Given the description of an element on the screen output the (x, y) to click on. 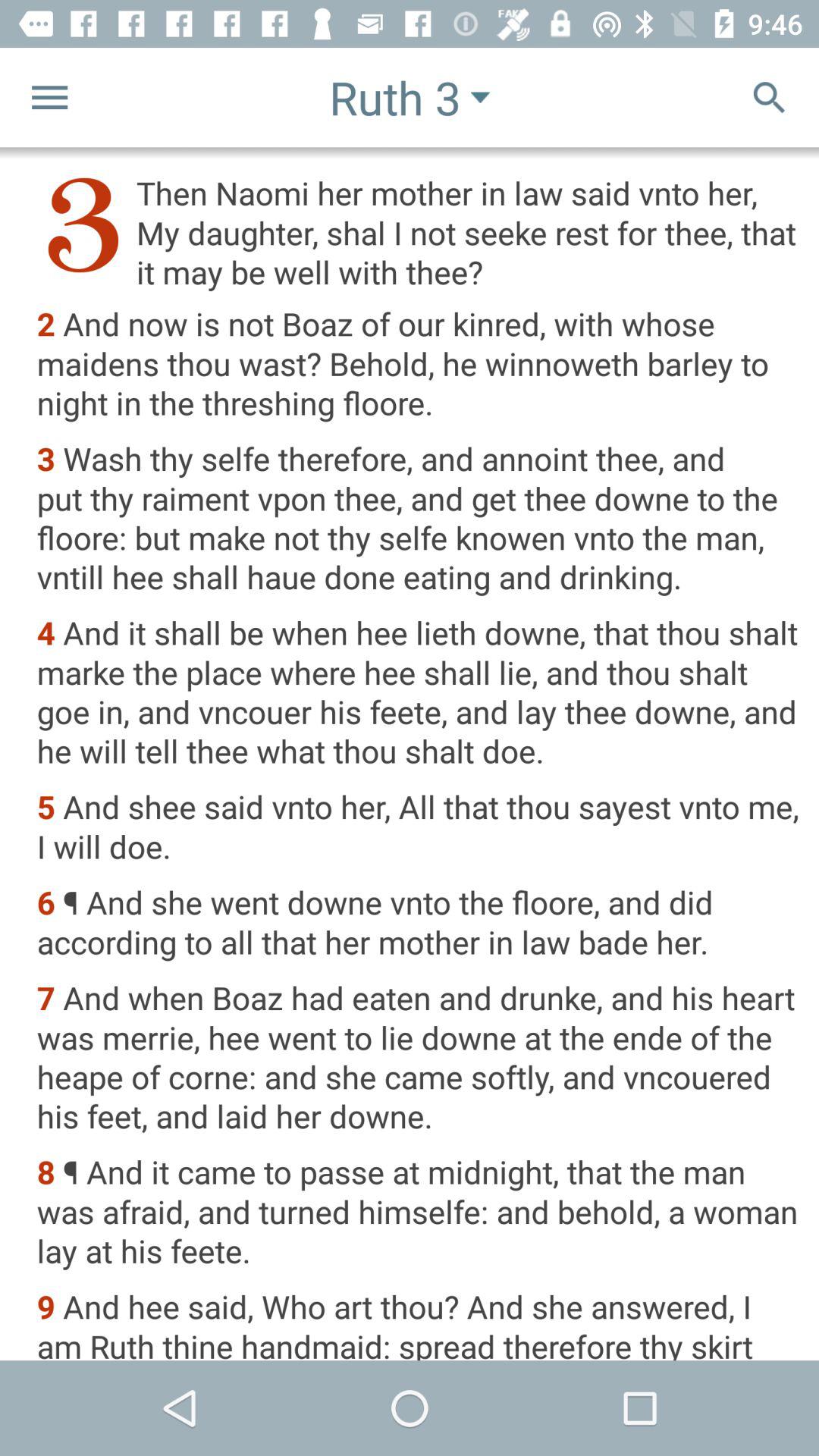
tap 3 wash thy (417, 519)
